Given the description of an element on the screen output the (x, y) to click on. 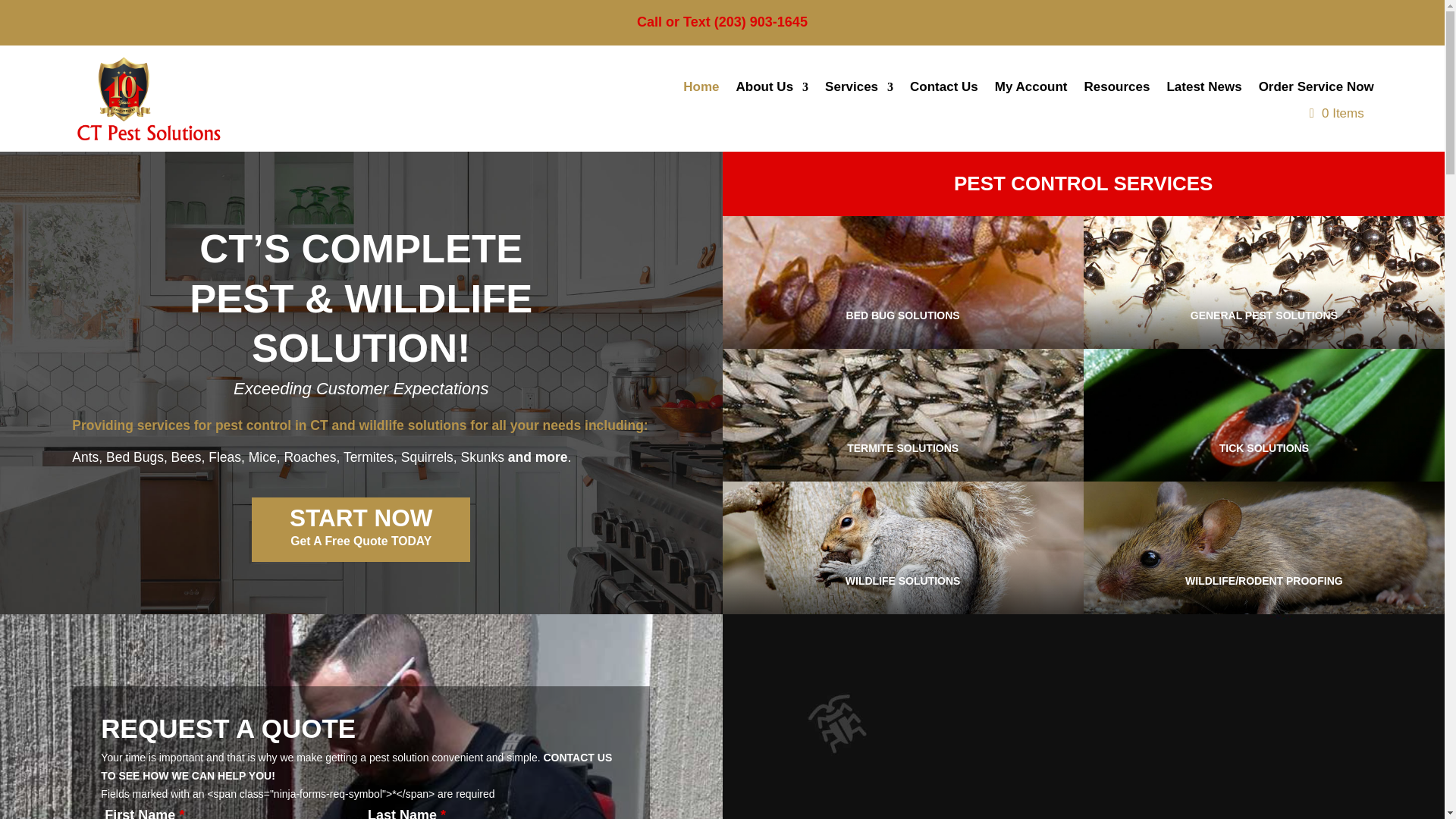
Services (859, 101)
My Account (1030, 101)
Contact Us (944, 101)
0 Items (1336, 113)
Resources (1117, 101)
Latest News (1203, 101)
Order Service Now (1316, 101)
Home (700, 101)
About Us (772, 101)
